Given the description of an element on the screen output the (x, y) to click on. 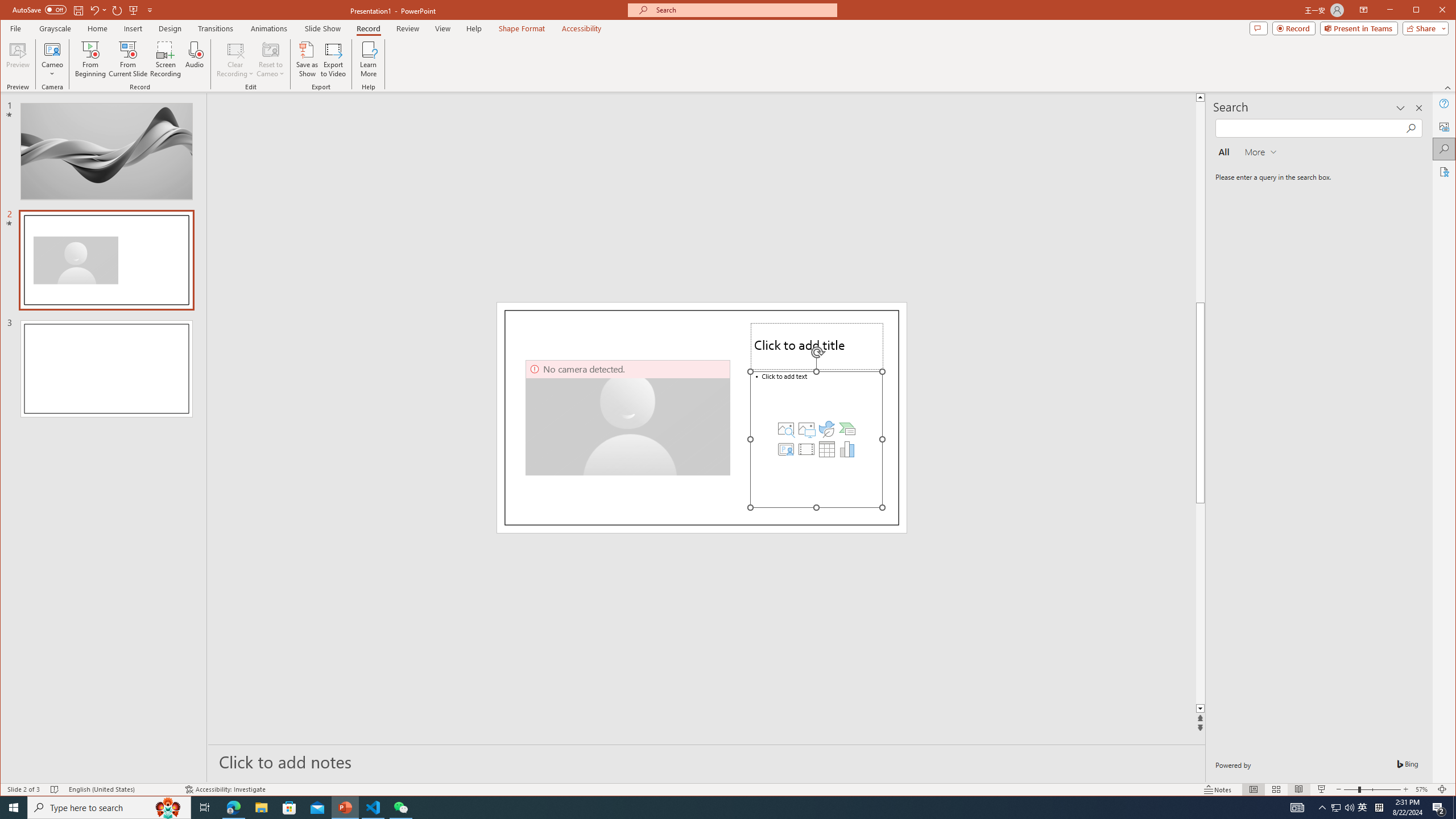
Insert Chart (847, 449)
WeChat - 1 running window (400, 807)
Title TextBox (817, 345)
Action Center, 2 new notifications (1439, 807)
Stock Images (1335, 807)
Cameo (785, 428)
Content Placeholder (52, 59)
